Given the description of an element on the screen output the (x, y) to click on. 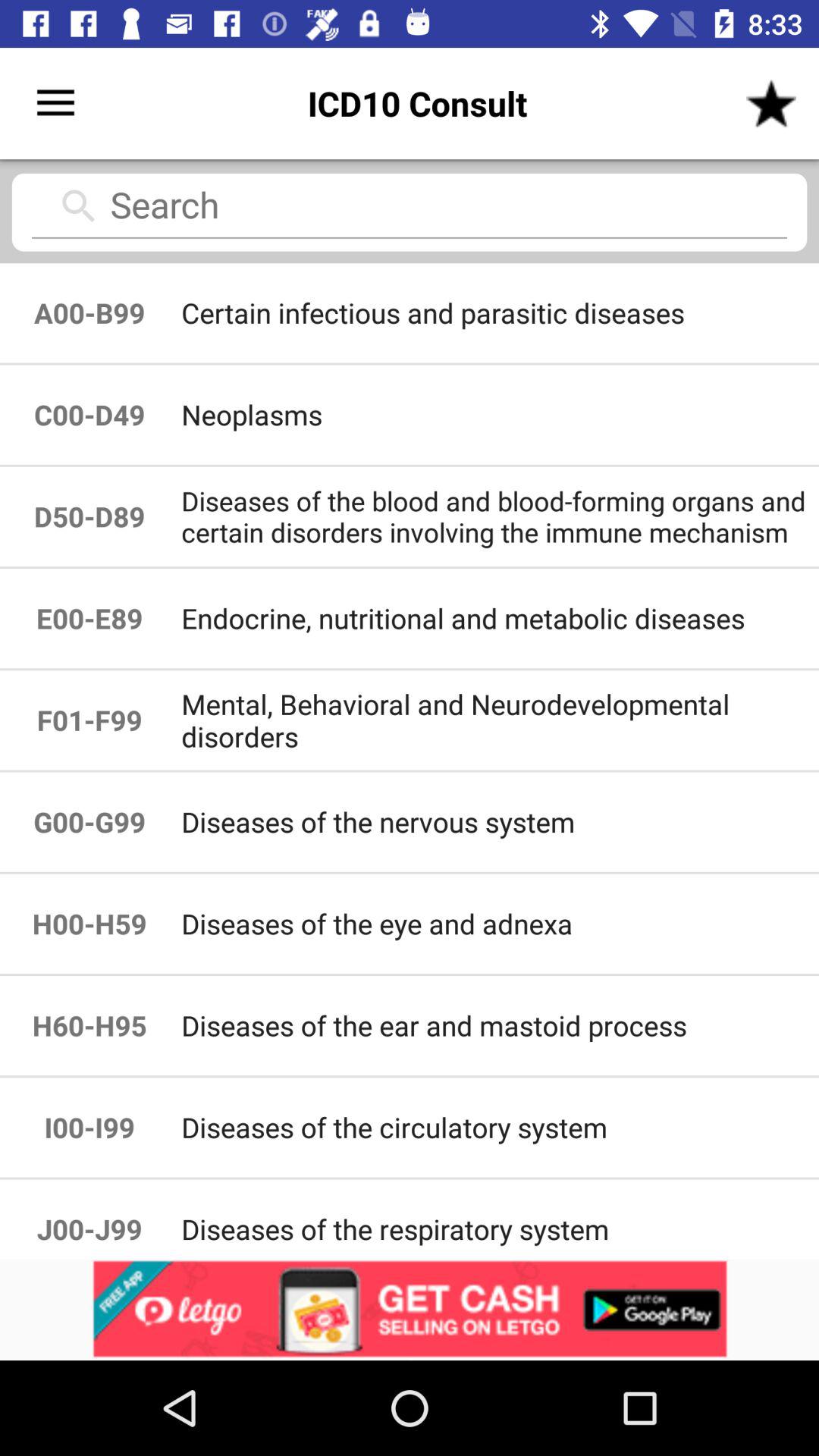
turn on item below the d50-d89 (89, 618)
